Given the description of an element on the screen output the (x, y) to click on. 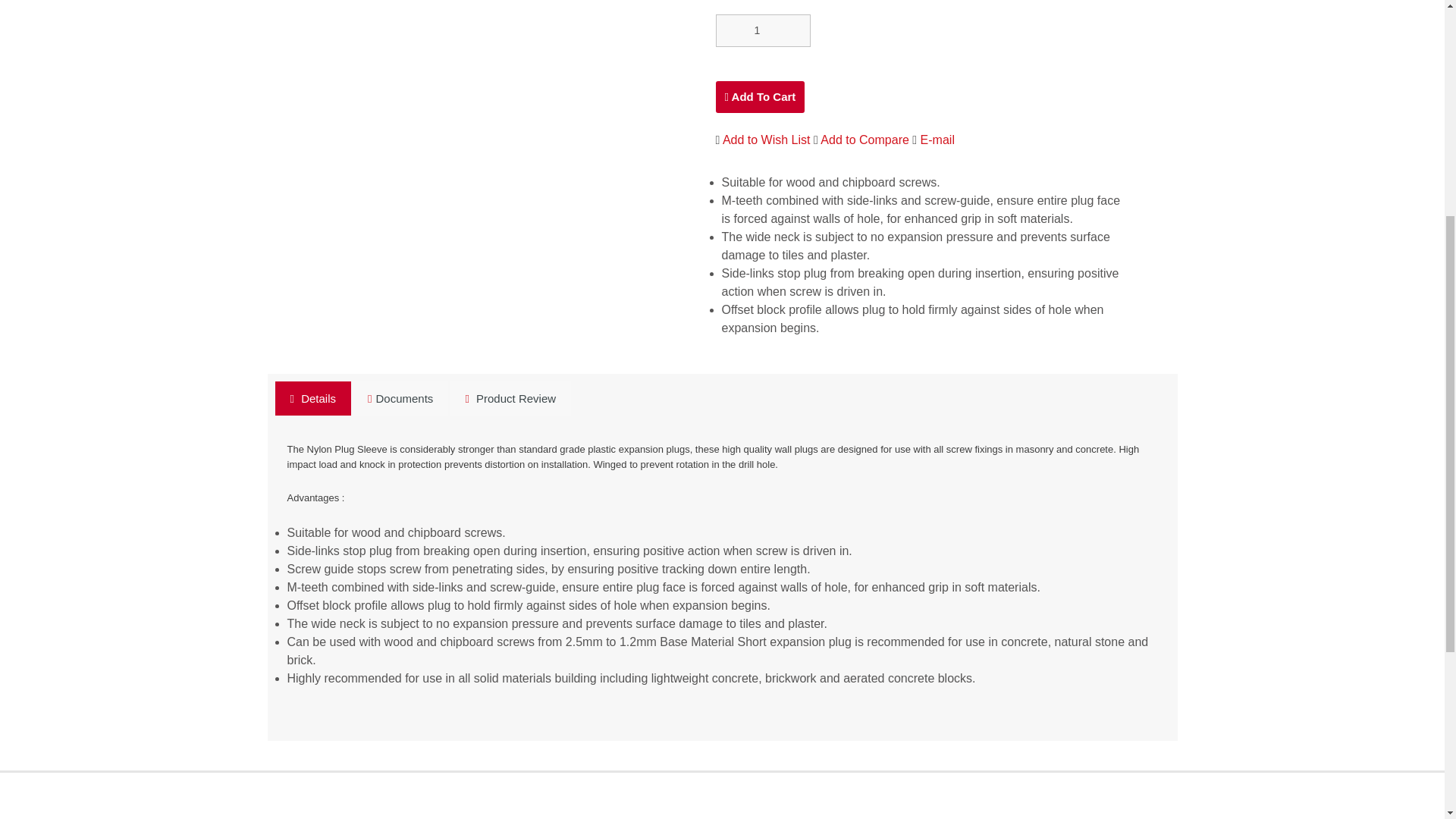
1 (763, 30)
